Given the description of an element on the screen output the (x, y) to click on. 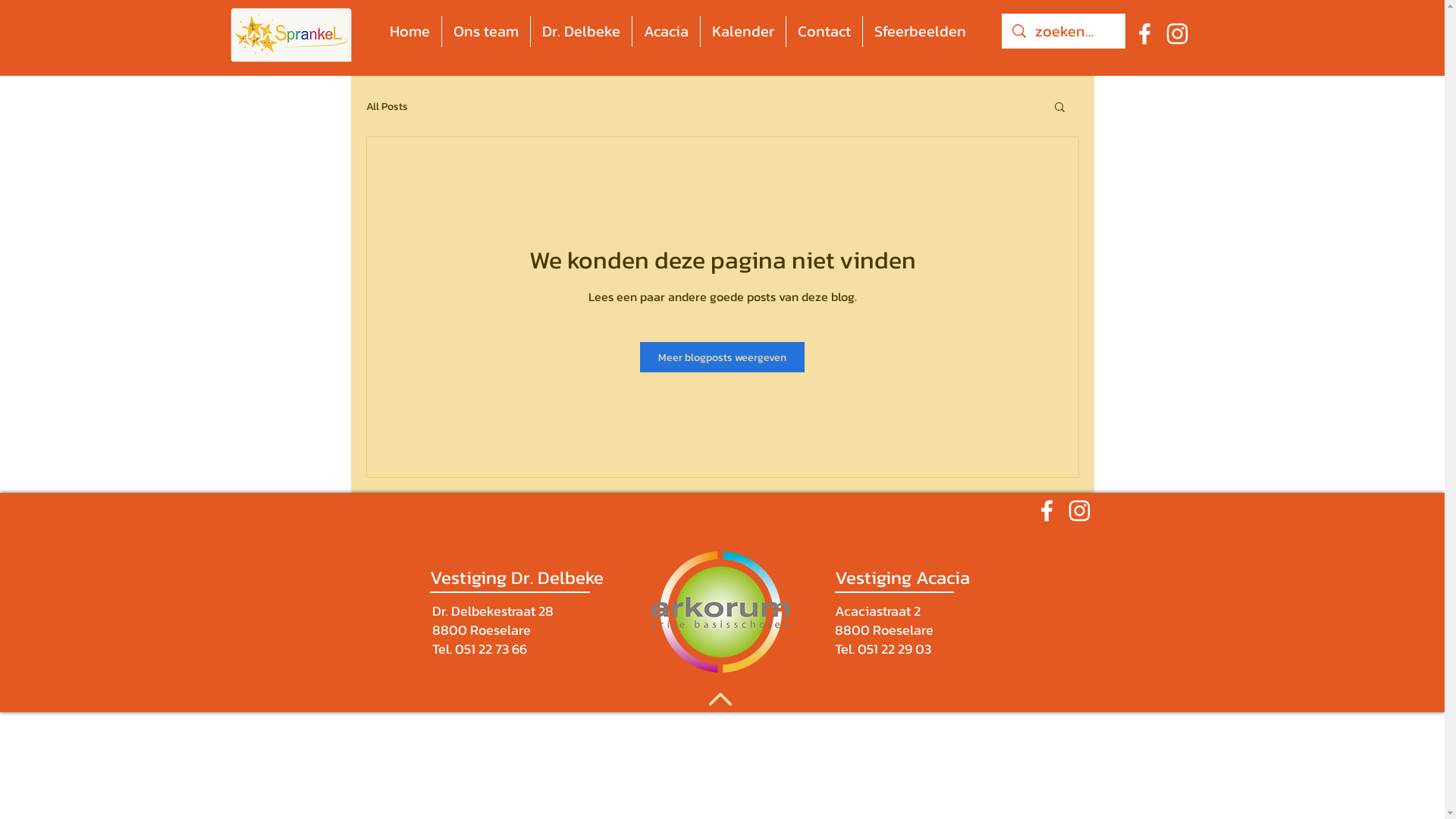
Sfeerbeelden Element type: text (919, 31)
All Posts Element type: text (386, 106)
Contact Element type: text (824, 31)
Home Element type: text (409, 31)
Kalender Element type: text (742, 31)
Dr. Delbeke Element type: text (580, 31)
Meer blogposts weergeven Element type: text (722, 357)
Ons team Element type: text (486, 31)
Acacia Element type: text (665, 31)
